Given the description of an element on the screen output the (x, y) to click on. 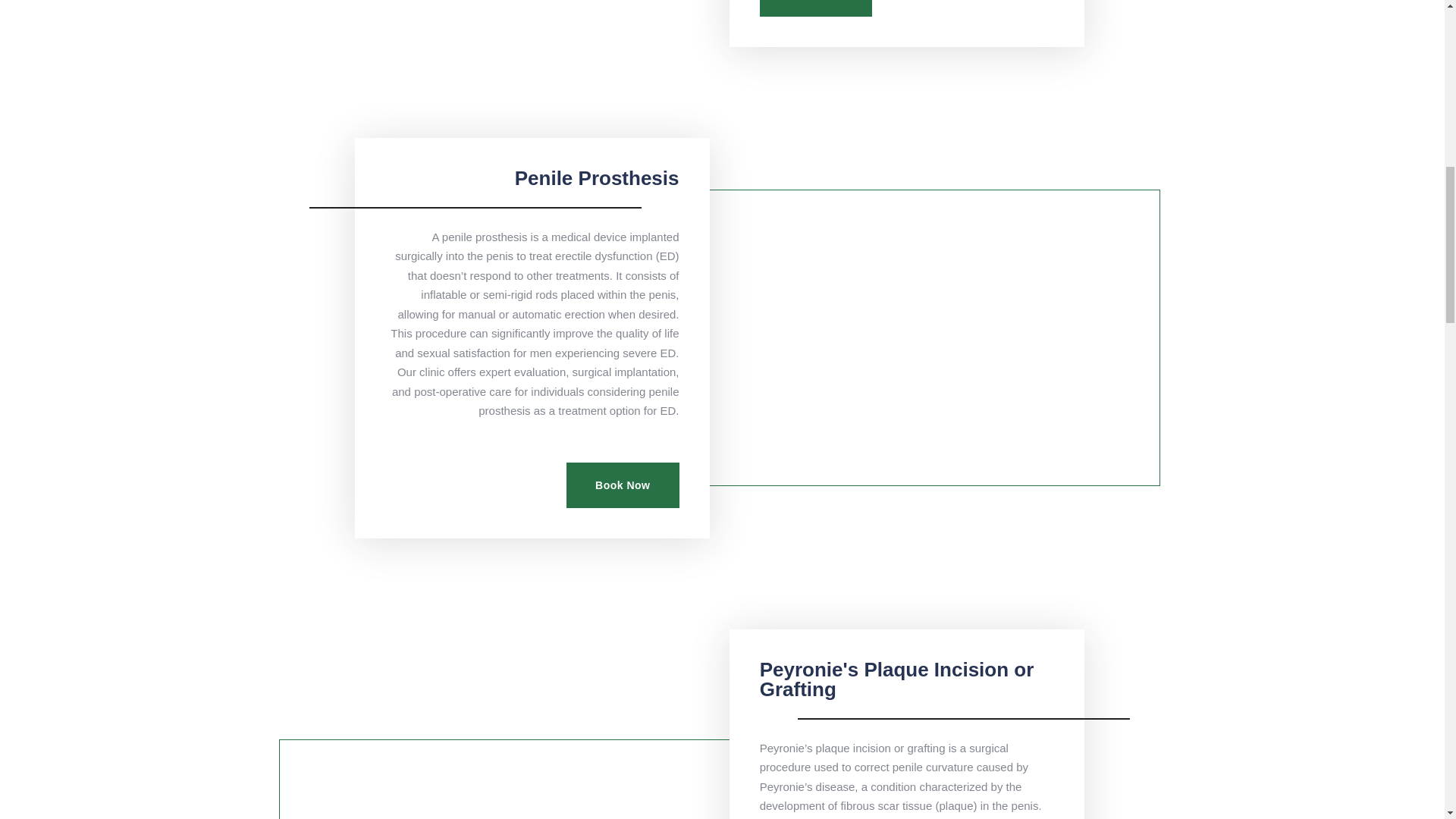
Book Now (816, 8)
